Given the description of an element on the screen output the (x, y) to click on. 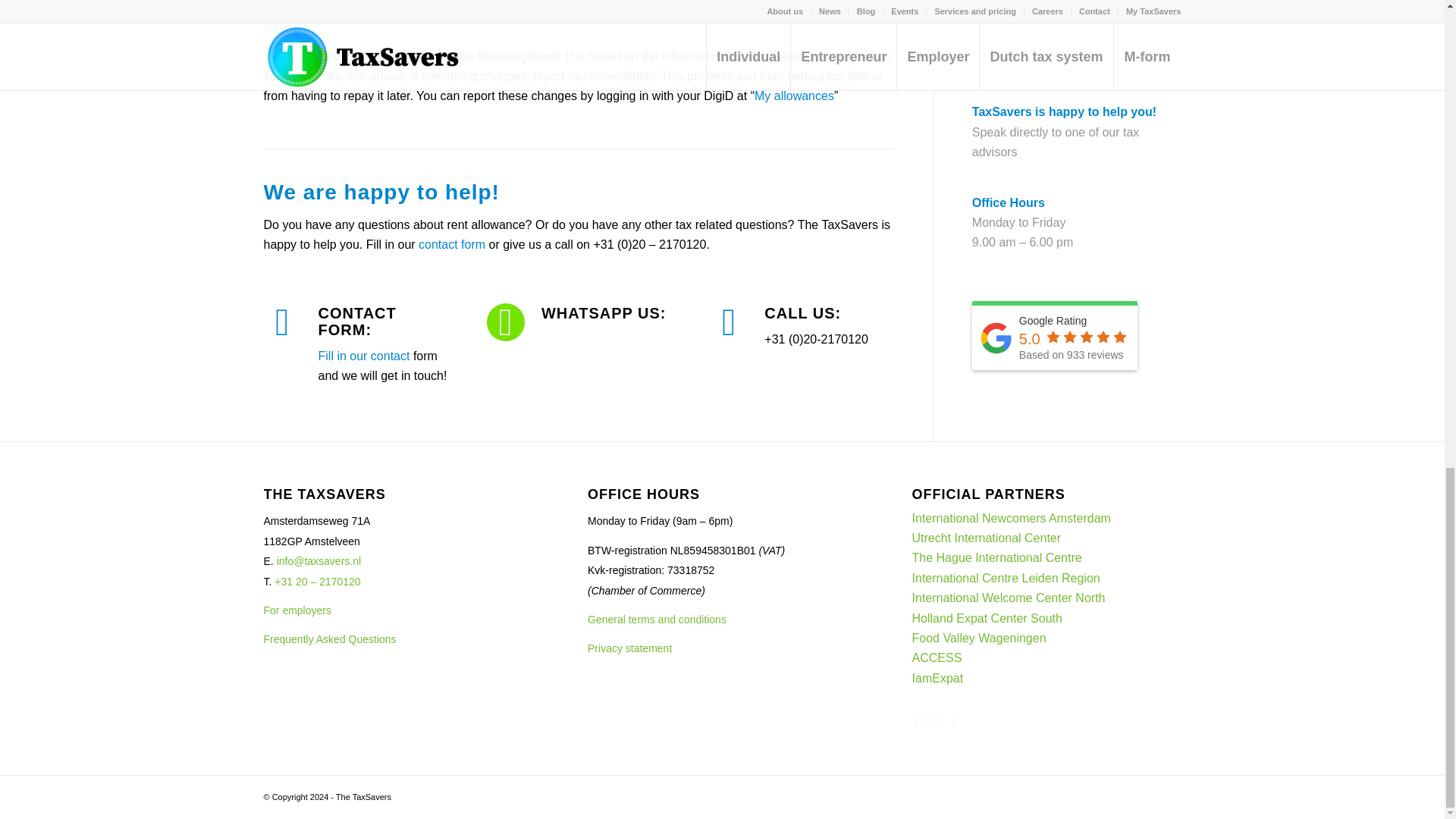
My allowances (794, 95)
contact form (451, 244)
Fill in our contact (364, 355)
